Given the description of an element on the screen output the (x, y) to click on. 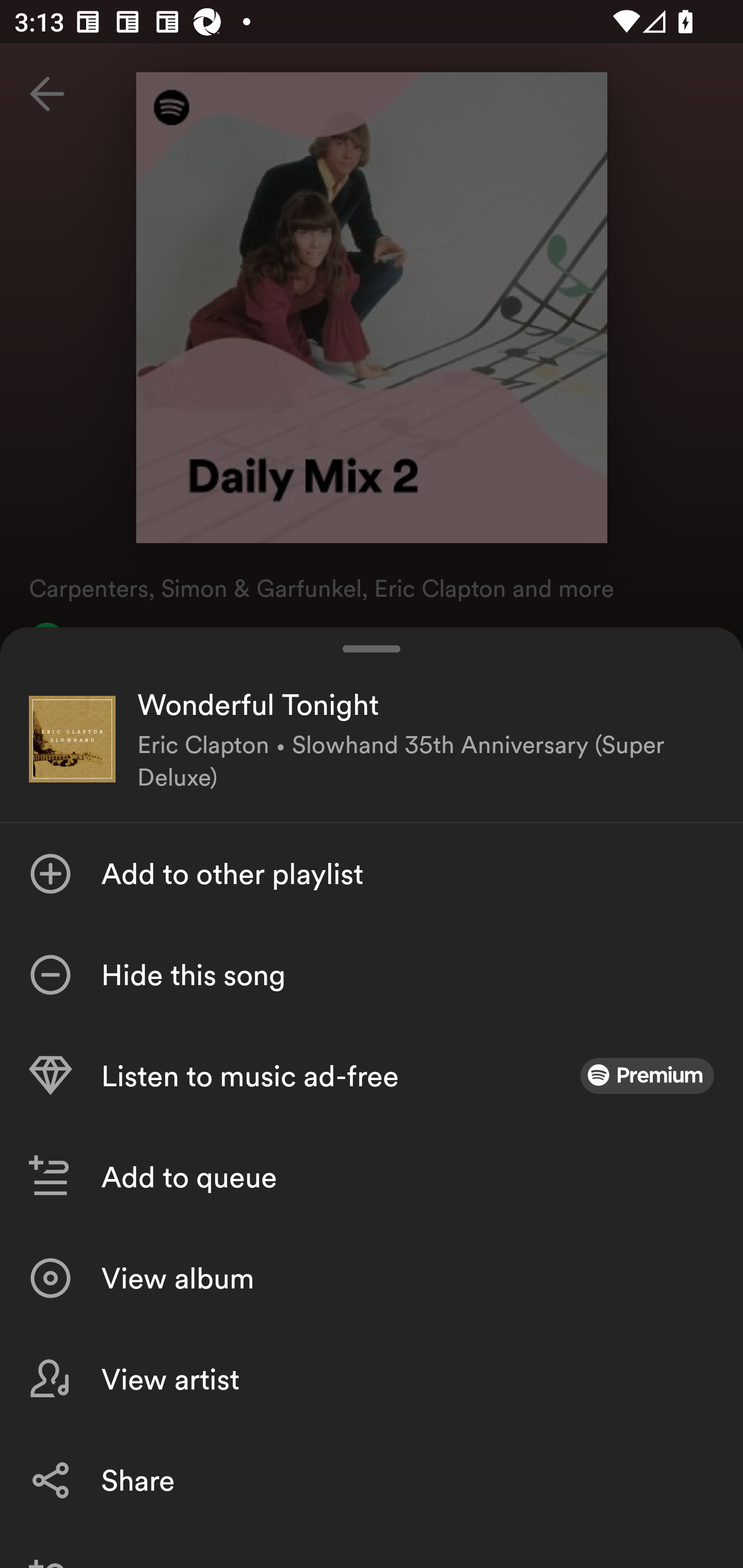
Add to other playlist (371, 873)
Hide this song (371, 974)
Listen to music ad-free (371, 1075)
Add to queue (371, 1176)
View album (371, 1277)
View artist (371, 1379)
Share (371, 1480)
